Given the description of an element on the screen output the (x, y) to click on. 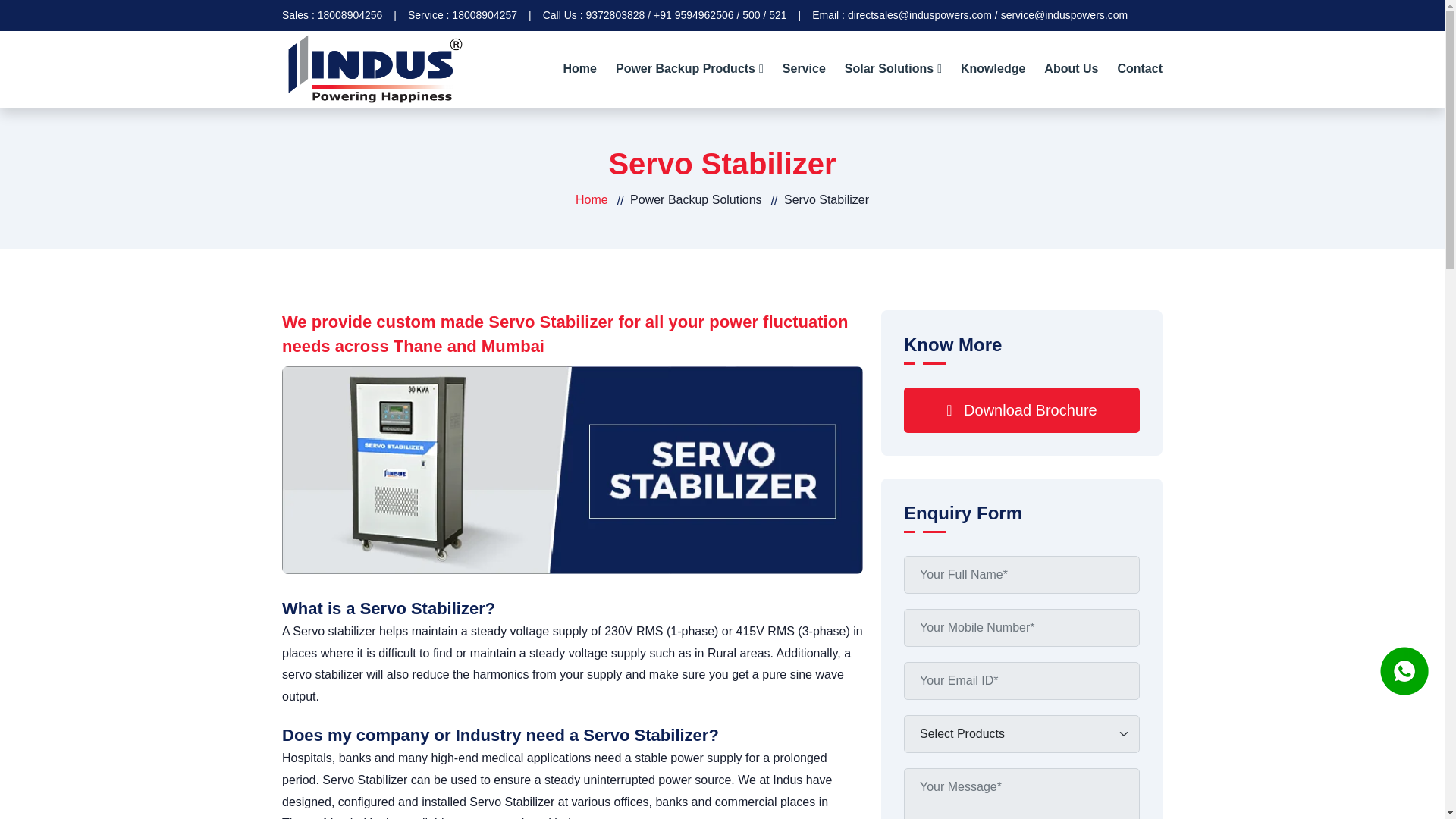
500 (751, 15)
Home (591, 200)
9372803828 (615, 15)
Download Brochure (1022, 410)
18008904256 (349, 15)
18008904257 (483, 15)
Power Backup Products (688, 69)
Knowledge (992, 69)
Solar Solutions (893, 69)
521 (777, 15)
